Given the description of an element on the screen output the (x, y) to click on. 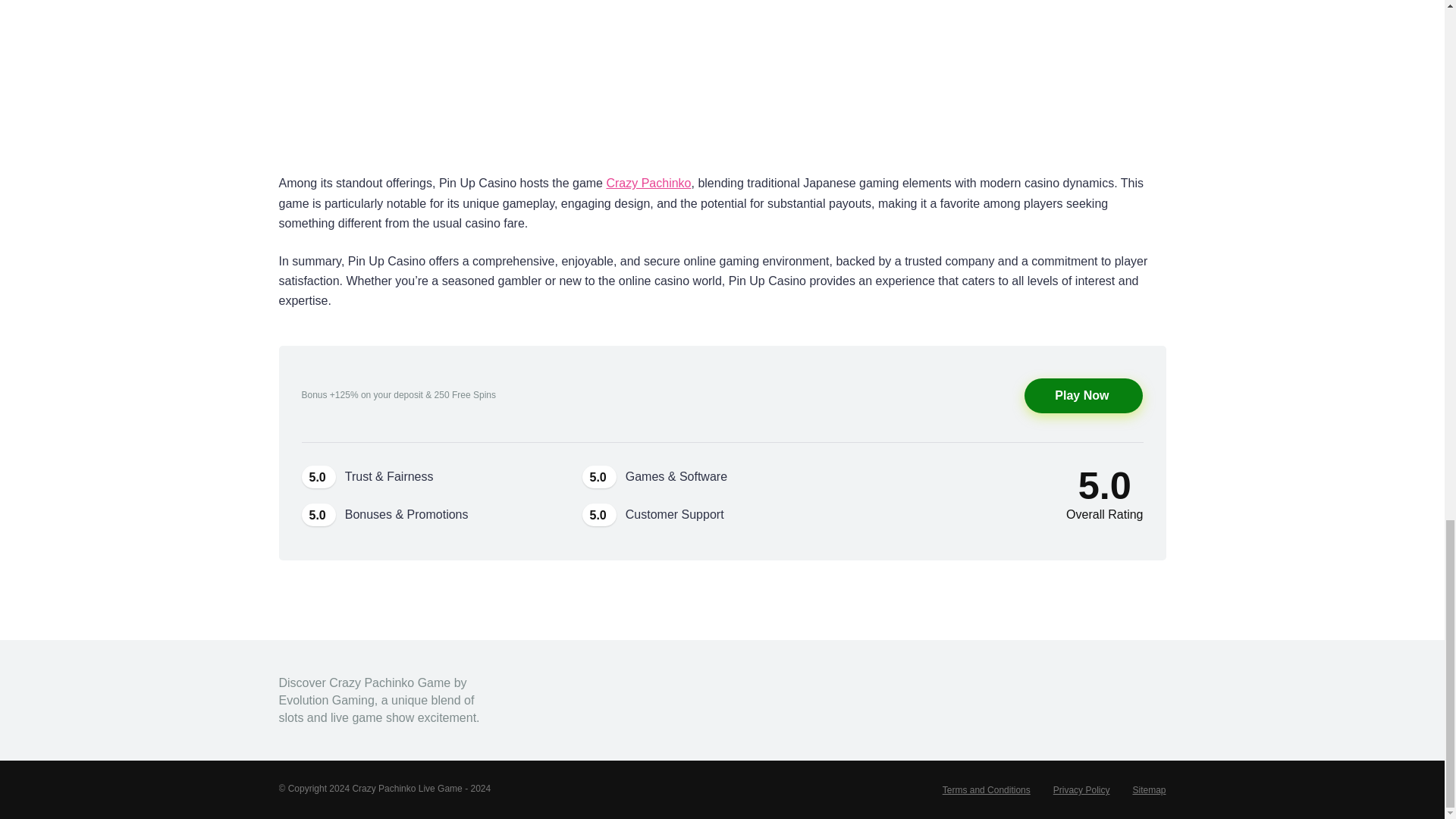
Crazy Pachinko (647, 182)
Terms and Conditions (986, 789)
Privacy Policy (1080, 789)
Play Now (1083, 395)
Sitemap (1149, 789)
Play Now (1083, 395)
